Given the description of an element on the screen output the (x, y) to click on. 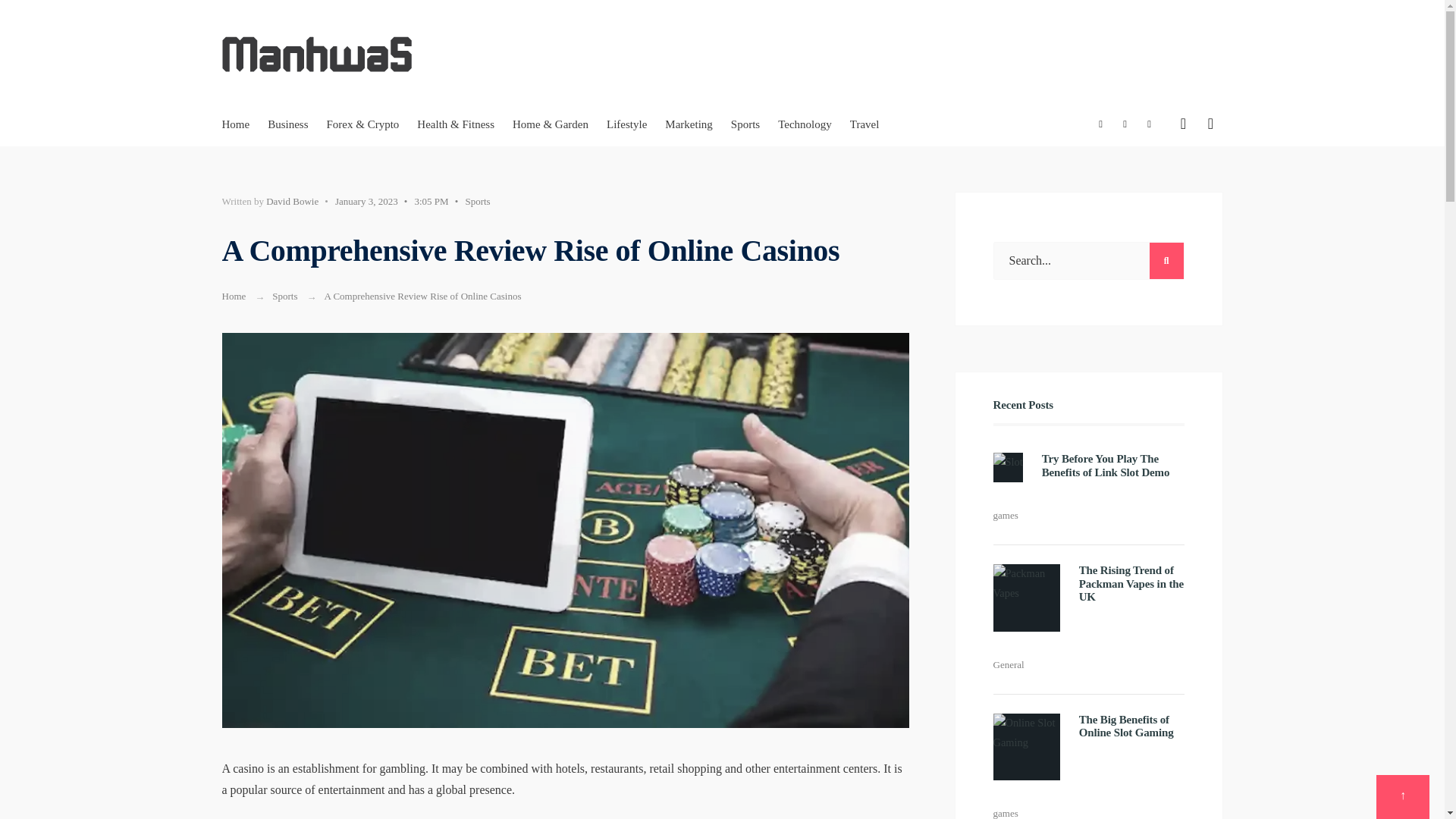
Posts by David Bowie (292, 201)
The Big Benefits of Online Slot Gaming (1125, 725)
The Rising Trend of Packman Vapes in the UK (1130, 583)
The Big Benefits of Online Slot Gaming (1125, 725)
Business (287, 124)
Marketing (688, 124)
Sports (476, 201)
Try Before You Play The Benefits of Link Slot Demo (1106, 464)
David Bowie (292, 201)
Facebook (1101, 125)
